Given the description of an element on the screen output the (x, y) to click on. 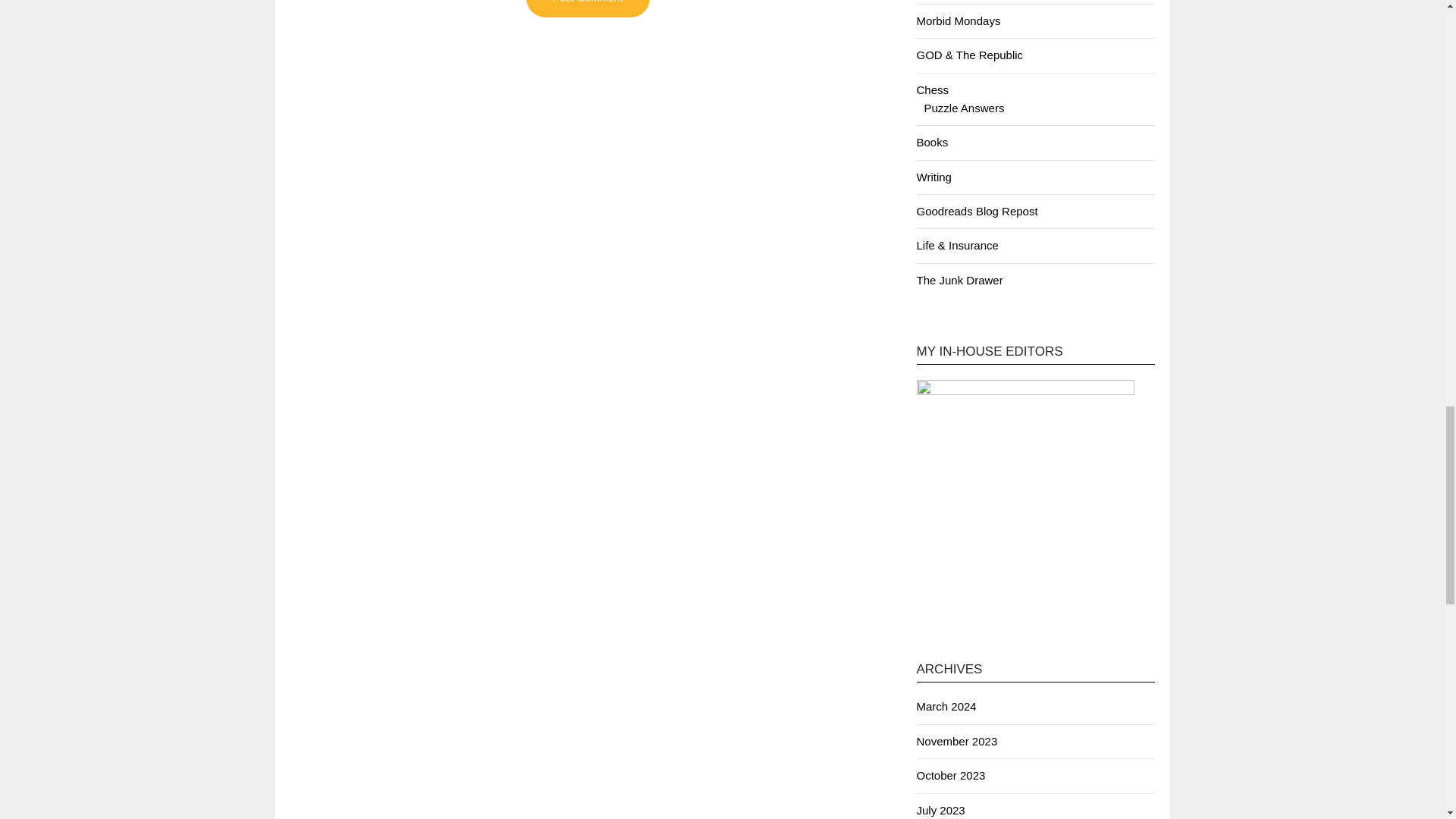
Chess (932, 89)
The Junk Drawer (959, 279)
Books (931, 141)
Morbid Mondays (957, 20)
Writing (932, 176)
Post Comment (587, 8)
Post Comment (587, 8)
Puzzle Answers (963, 107)
Goodreads Blog Repost (975, 210)
